Given the description of an element on the screen output the (x, y) to click on. 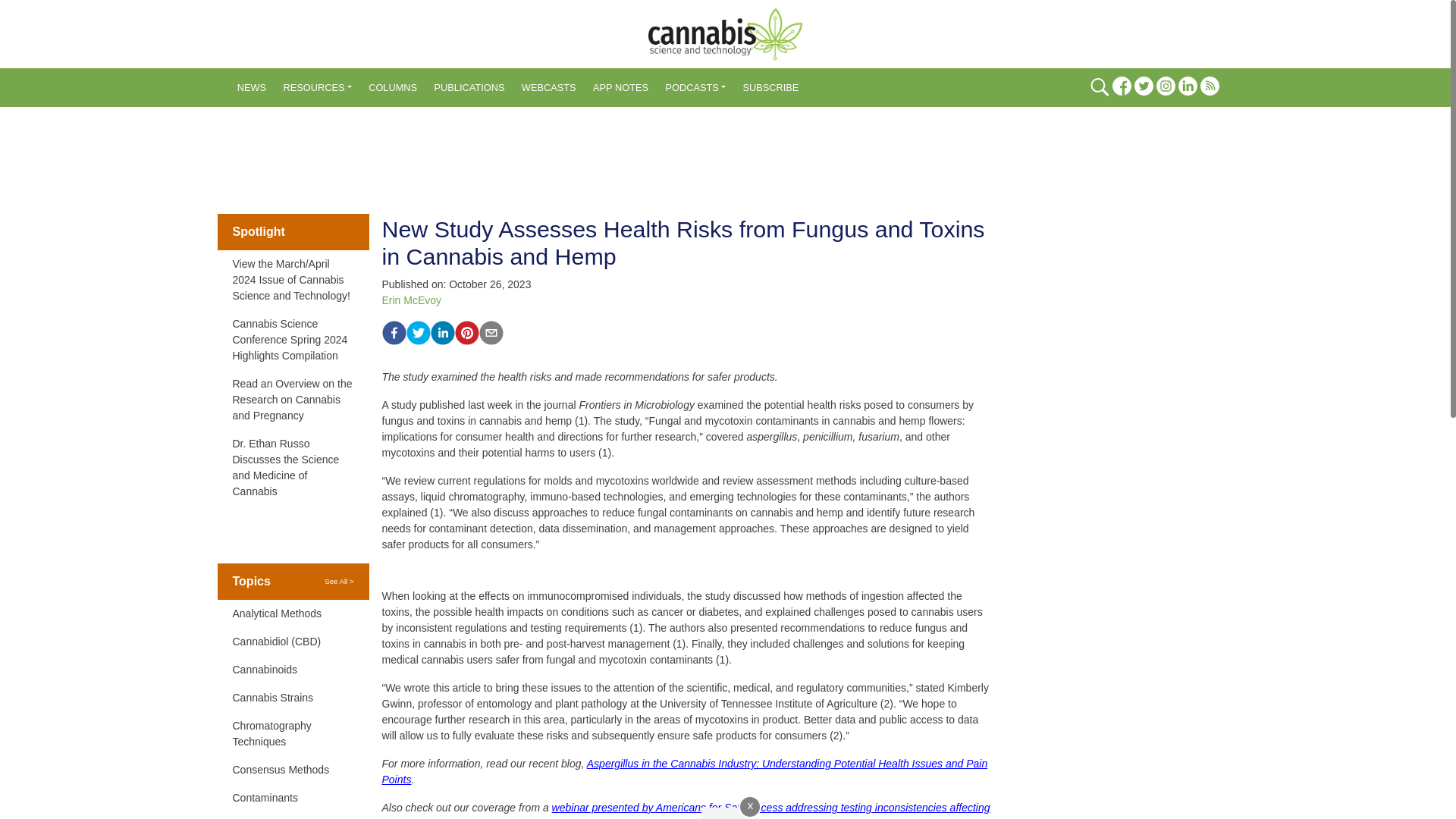
COLUMNS (392, 87)
PUBLICATIONS (468, 87)
APP NOTES (620, 87)
NEWS (251, 87)
RESOURCES (317, 87)
WEBCASTS (549, 87)
PODCASTS (694, 87)
